Given the description of an element on the screen output the (x, y) to click on. 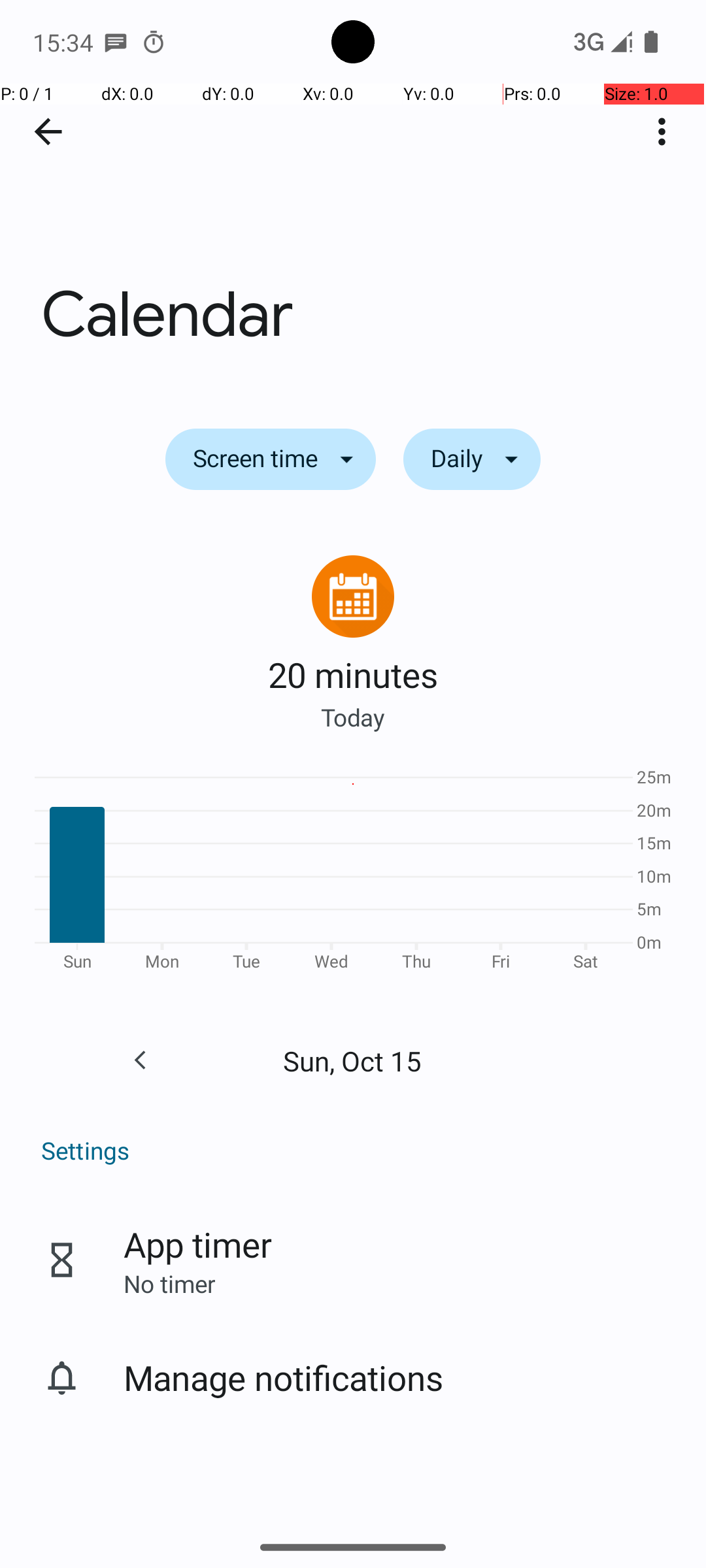
20 minutes Element type: android.widget.TextView (353, 674)
App timer Element type: android.widget.TextView (197, 1244)
No timer Element type: android.widget.TextView (169, 1283)
